Given the description of an element on the screen output the (x, y) to click on. 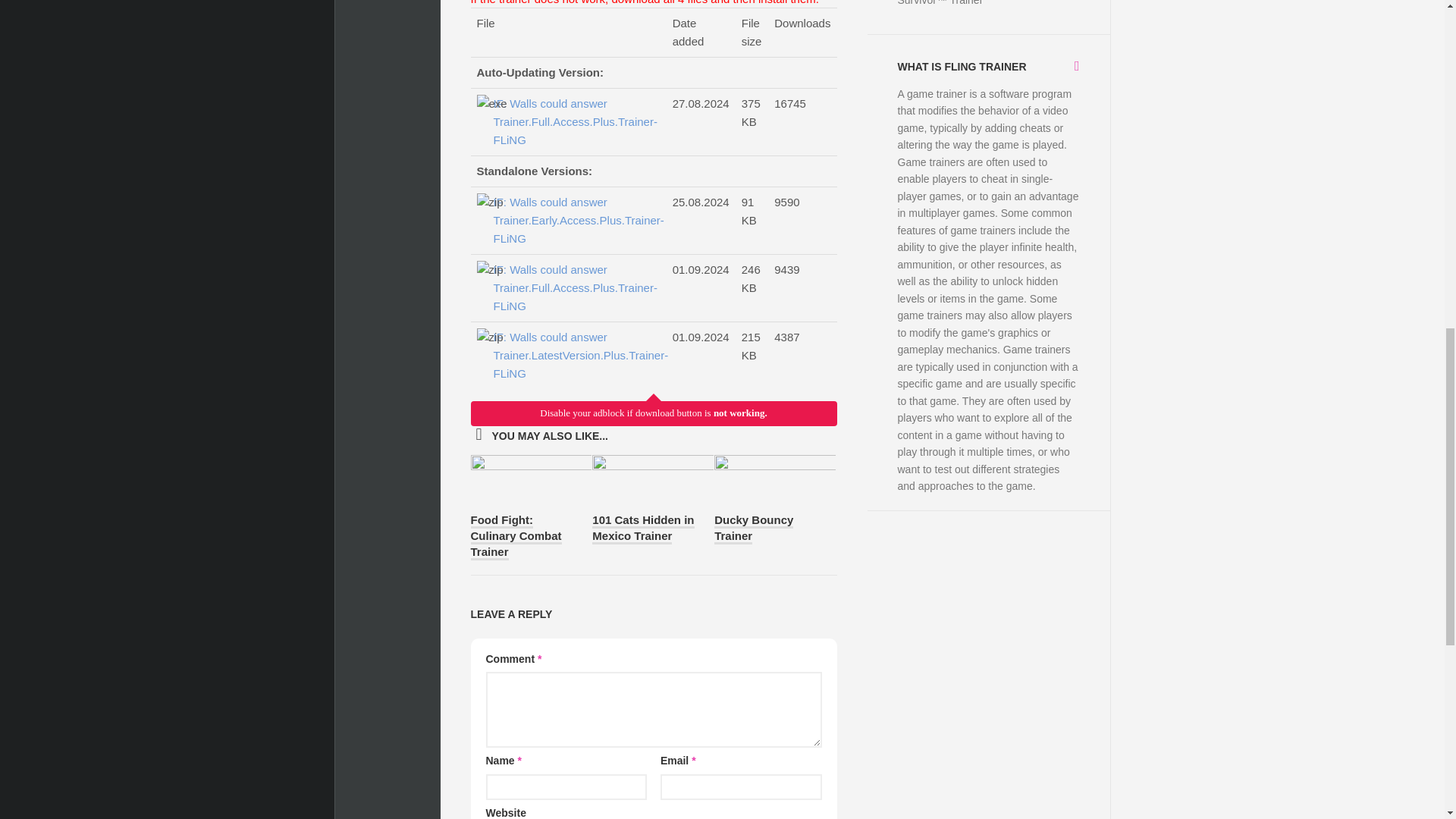
Ducky Bouncy Trainer (753, 528)
101 Cats Hidden in Mexico Trainer (643, 528)
Food Fight: Culinary Combat Trainer (515, 536)
